Given the description of an element on the screen output the (x, y) to click on. 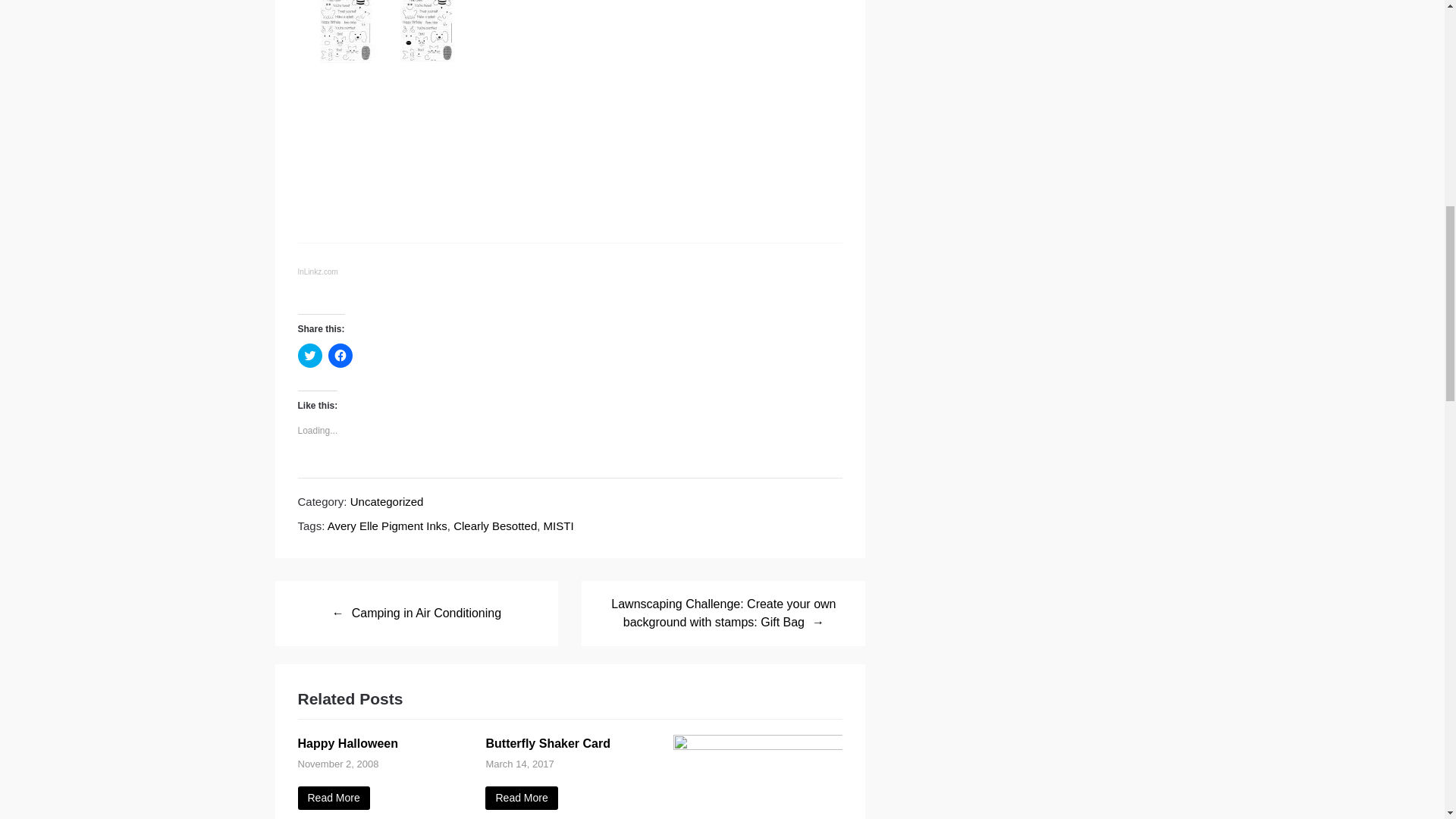
Read More (333, 797)
Avery Elle Pigment Inks (386, 525)
Clearly Besotted (494, 525)
Read More (520, 797)
InLinkz.com (317, 271)
SSS Clearly Besotted IN PRINT Clear Stamp Set  (345, 58)
MISTI (558, 525)
Butterfly Shaker Card (547, 743)
Camping in Air Conditioning (416, 613)
Happy Halloween (347, 743)
